Given the description of an element on the screen output the (x, y) to click on. 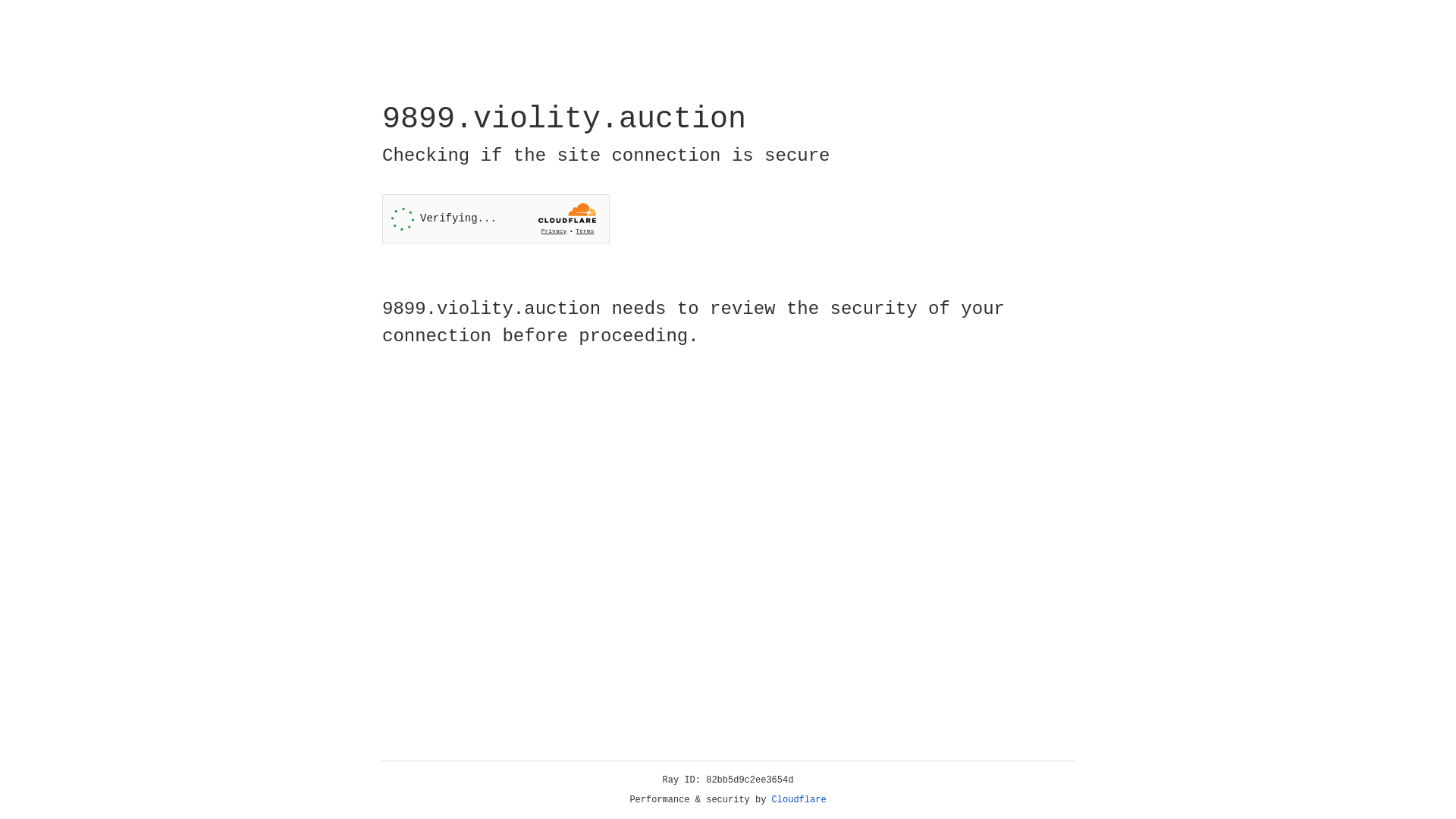
Widget containing a Cloudflare security challenge Element type: hover (495, 218)
Cloudflare Element type: text (798, 799)
